Given the description of an element on the screen output the (x, y) to click on. 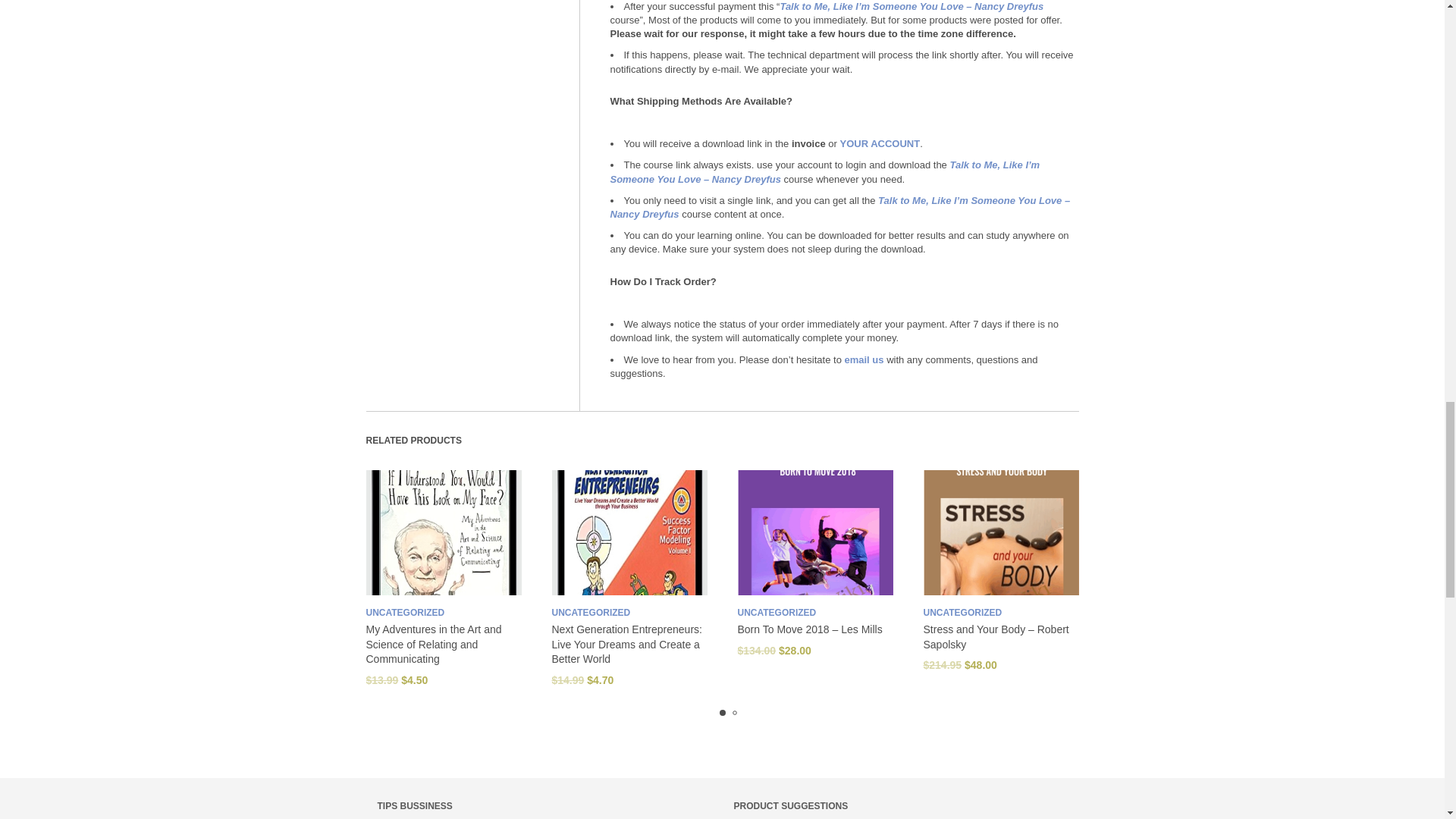
Born To Move 2018 - Les Mills - BoxSkill net (814, 532)
Stress and Your Body - Robert Sapolsky - BoxSkill net (1000, 532)
YOUR ACCOUNT (880, 143)
